Given the description of an element on the screen output the (x, y) to click on. 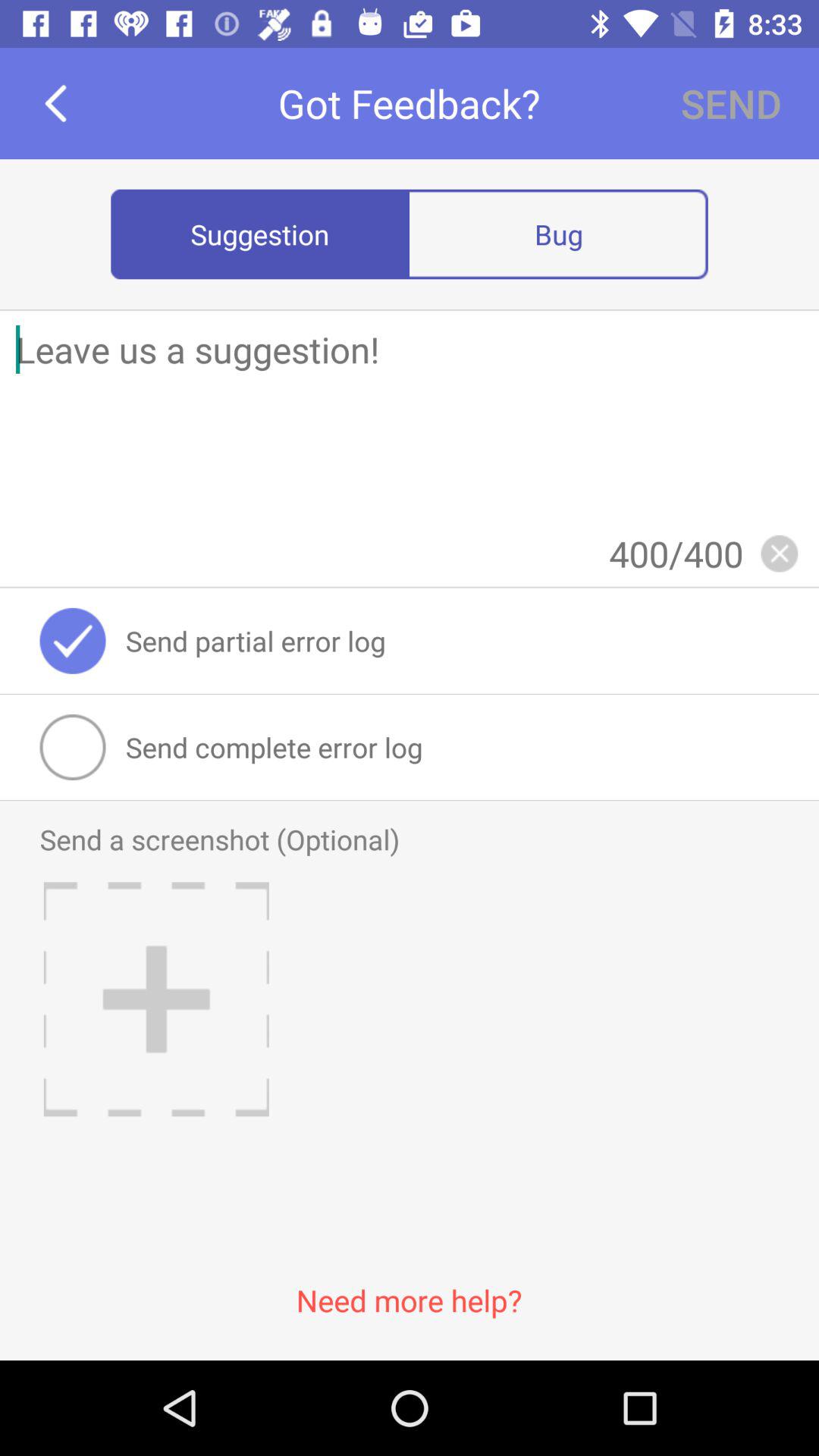
choose icon to the right of the suggestion icon (558, 234)
